Given the description of an element on the screen output the (x, y) to click on. 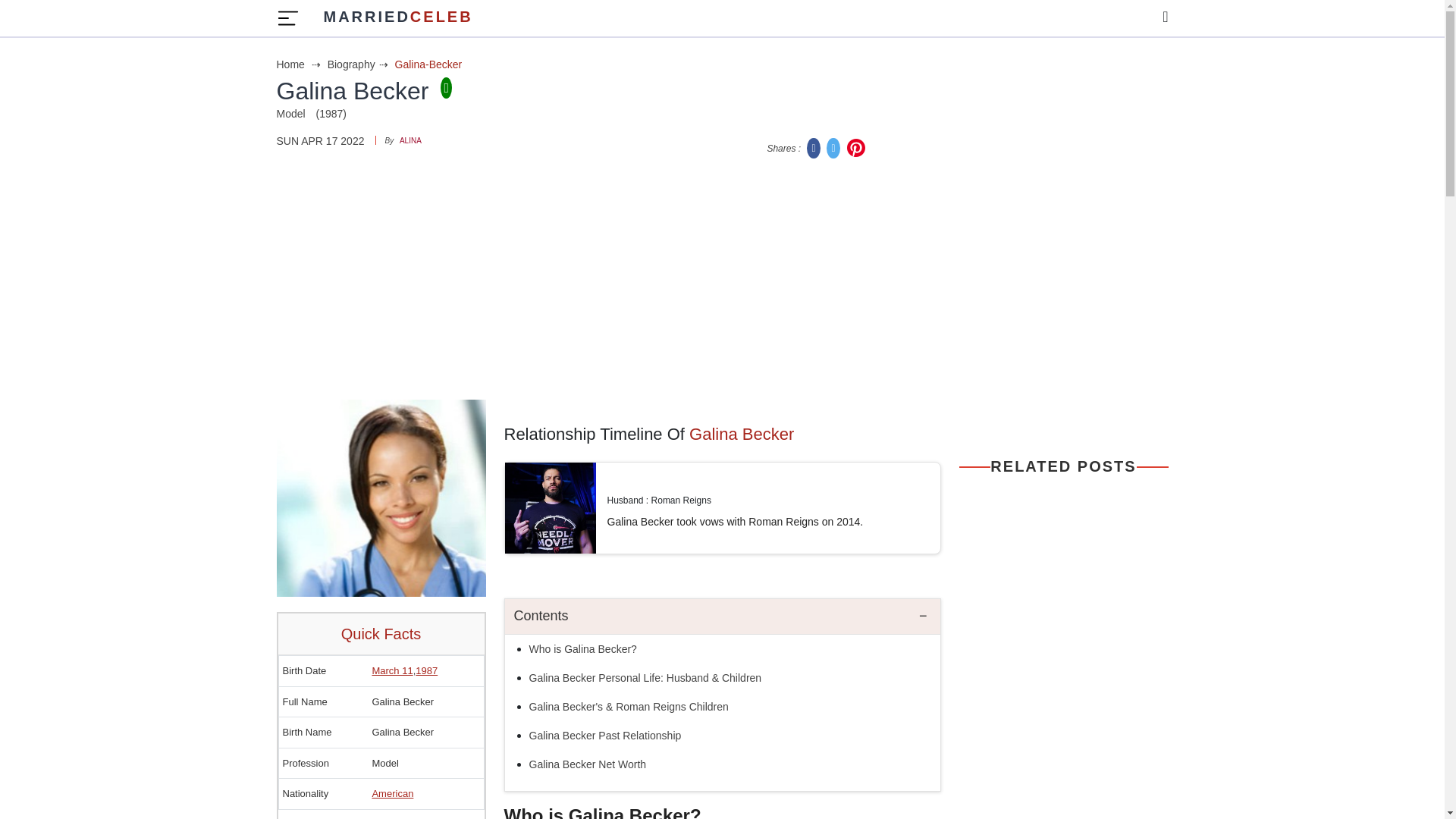
Home (299, 64)
March 11 (397, 18)
Contents (391, 670)
Biography (722, 616)
American (359, 64)
Who is Galina Becker?  (392, 793)
Twitter (584, 648)
ALINA (835, 147)
Facebook (410, 140)
Pinterest (814, 147)
1987 (854, 147)
